Given the description of an element on the screen output the (x, y) to click on. 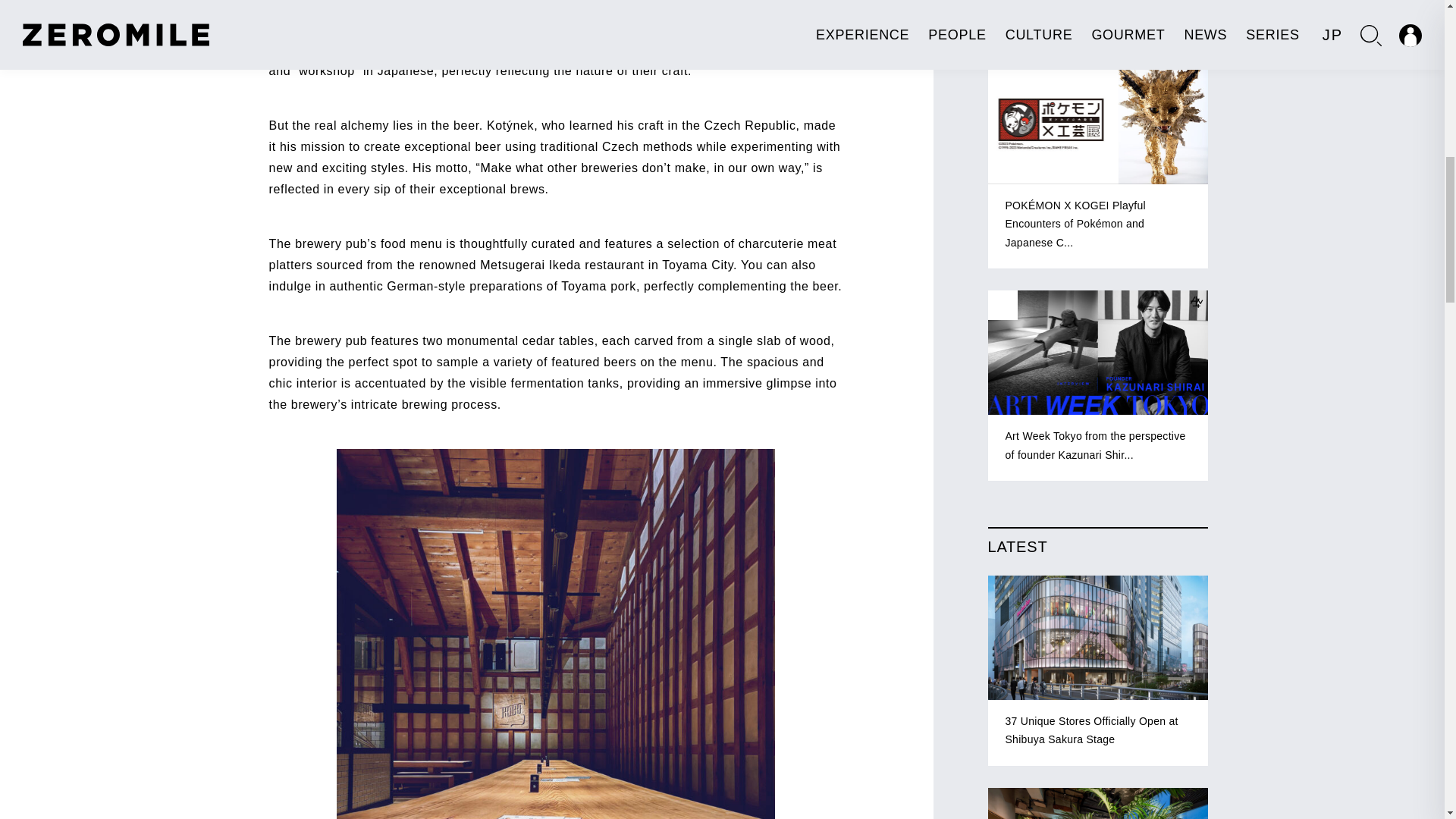
37 Unique Stores Officially Open at Shibuya Sakura Stage (1097, 670)
